Given the description of an element on the screen output the (x, y) to click on. 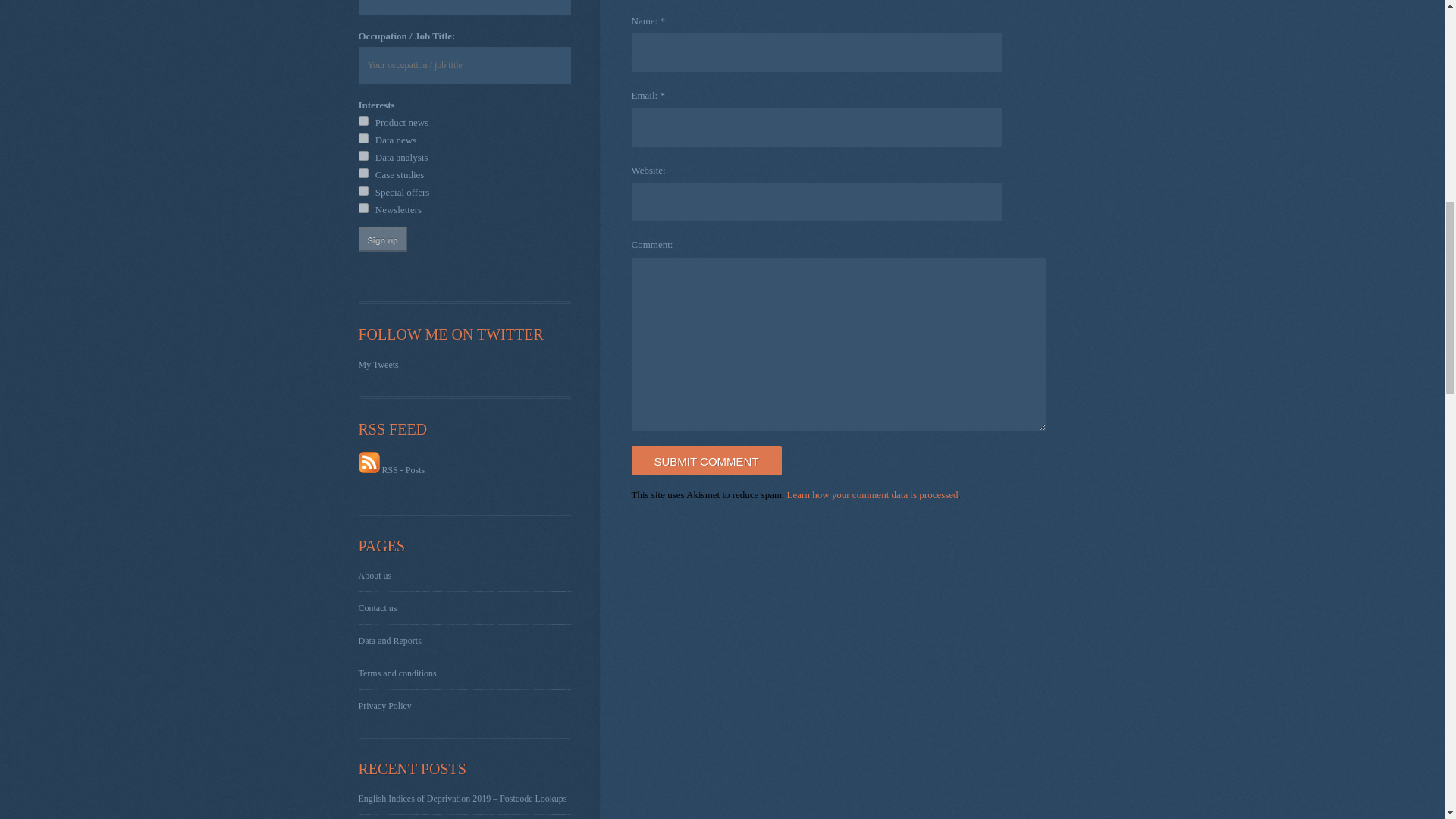
2aa3f558f5 (363, 121)
8f2cac8843 (363, 207)
2437e50c6b (363, 138)
About us (374, 575)
Data and Reports (389, 640)
Privacy Policy (384, 706)
Sign up (382, 239)
Contact us (377, 607)
Sign up (382, 239)
Submit Comment (705, 460)
 RSS - Posts (391, 470)
My Tweets (377, 364)
Terms and conditions (396, 673)
Subscribe to posts (391, 470)
97257f84d6 (363, 155)
